Given the description of an element on the screen output the (x, y) to click on. 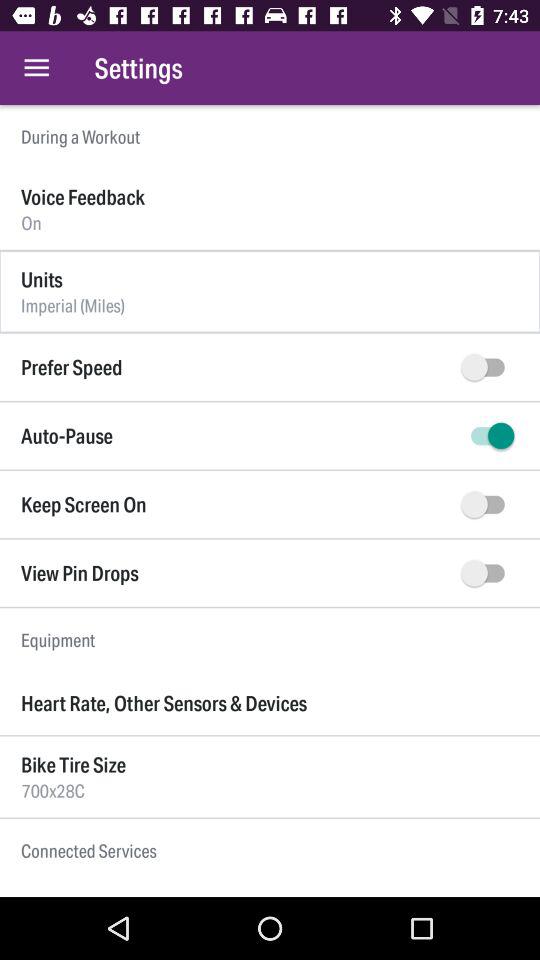
toggle prefer speed option on (487, 367)
